Given the description of an element on the screen output the (x, y) to click on. 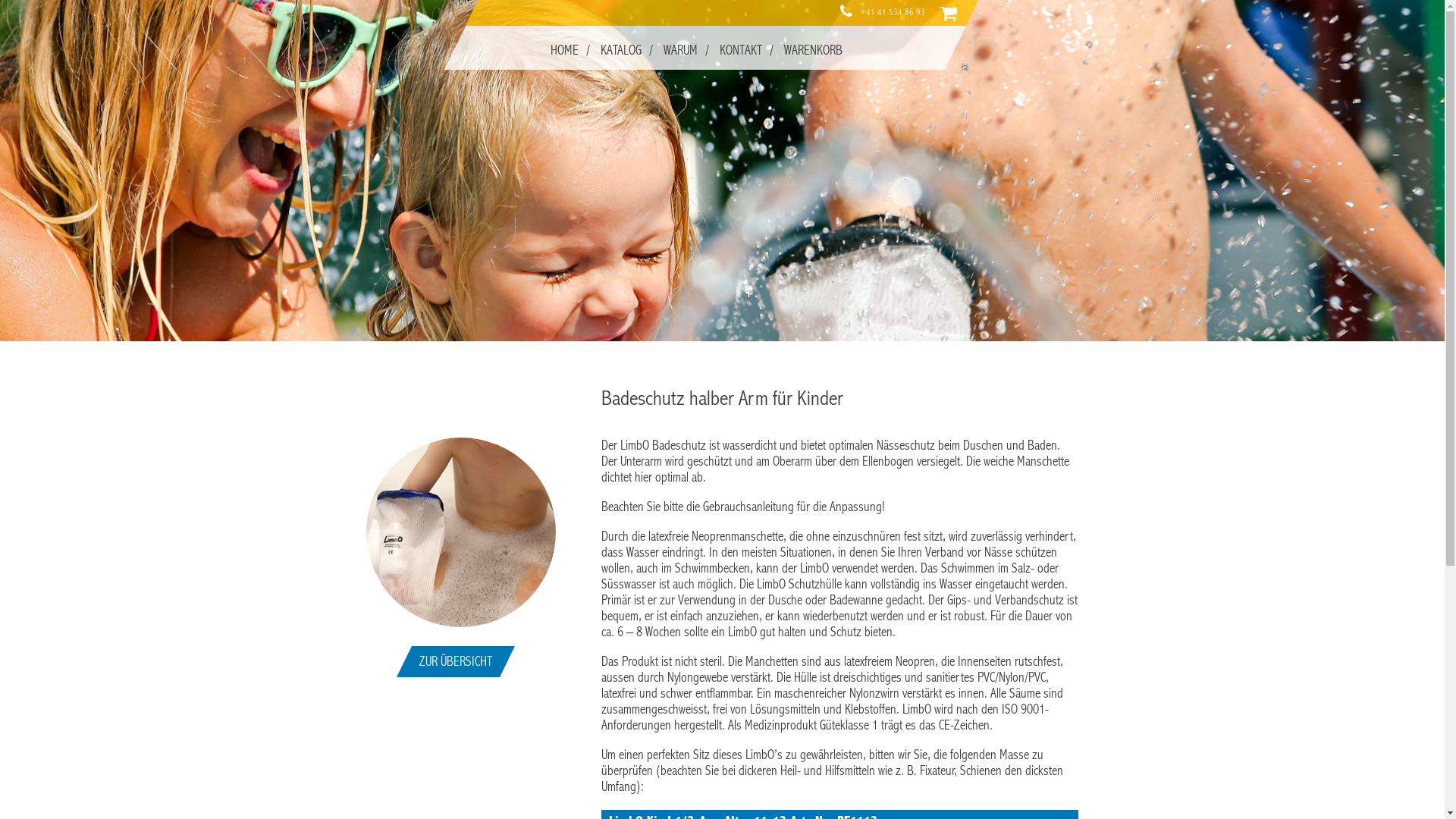
KATALOG Element type: text (619, 50)
WARENKORB Element type: text (812, 50)
HOME Element type: text (563, 50)
+41 41 534 86 93 Element type: text (892, 12)
KONTAKT Element type: text (739, 50)
WARUM Element type: text (679, 50)
